Given the description of an element on the screen output the (x, y) to click on. 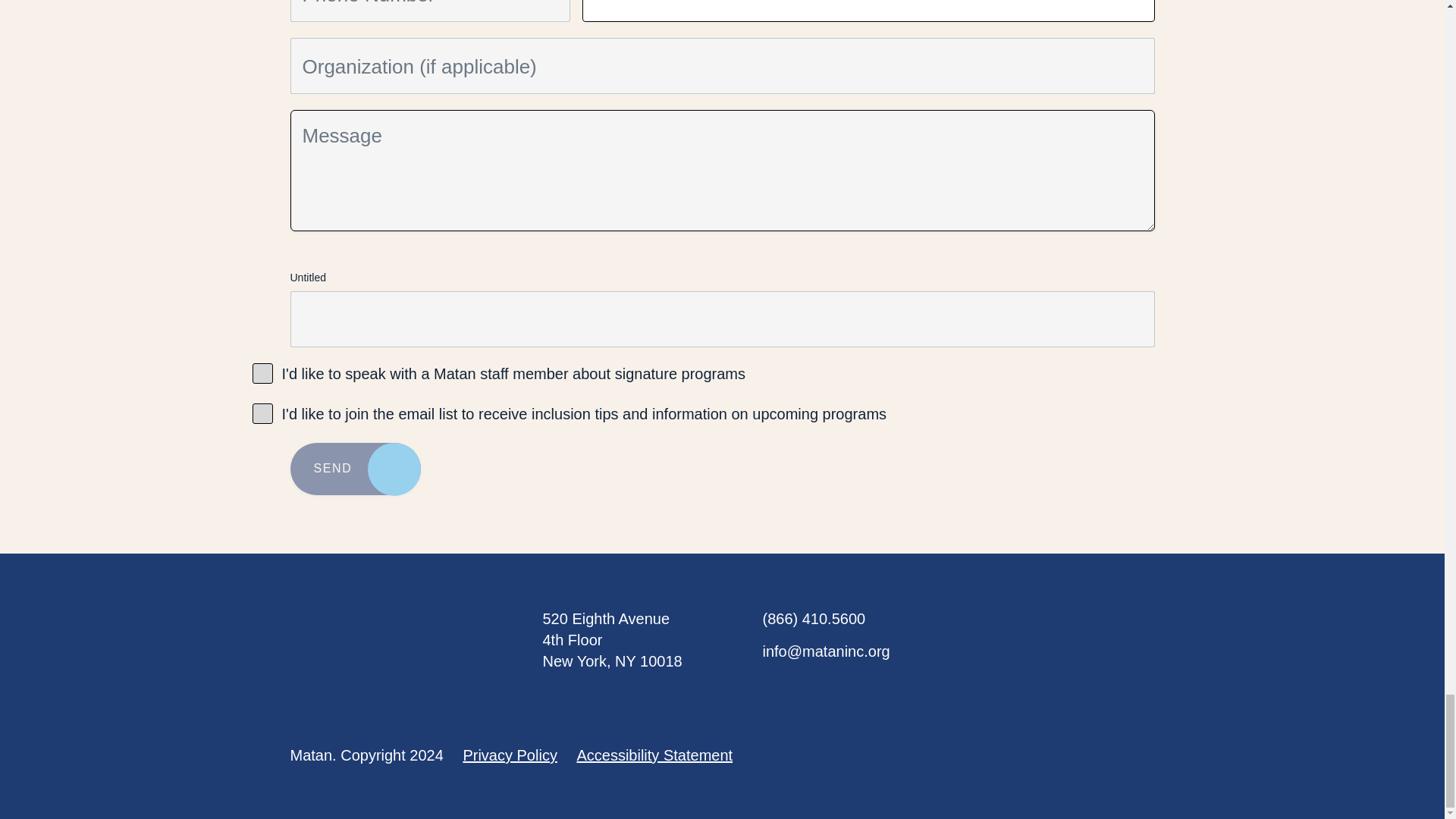
Privacy Policy (509, 754)
SEND (354, 469)
Accessibility Statement (654, 754)
